Given the description of an element on the screen output the (x, y) to click on. 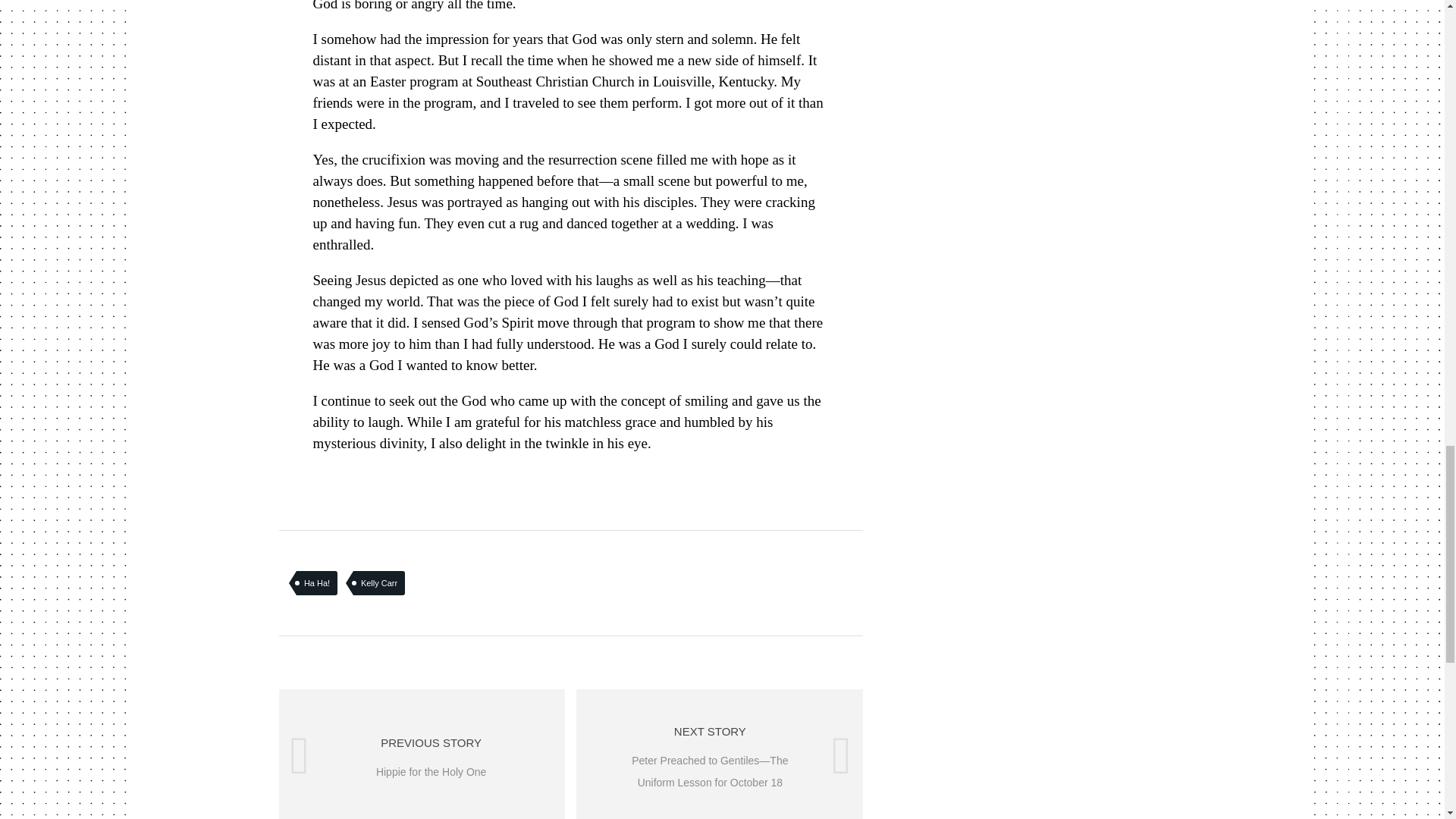
Kelly Carr (421, 754)
Ha Ha! (378, 582)
